Given the description of an element on the screen output the (x, y) to click on. 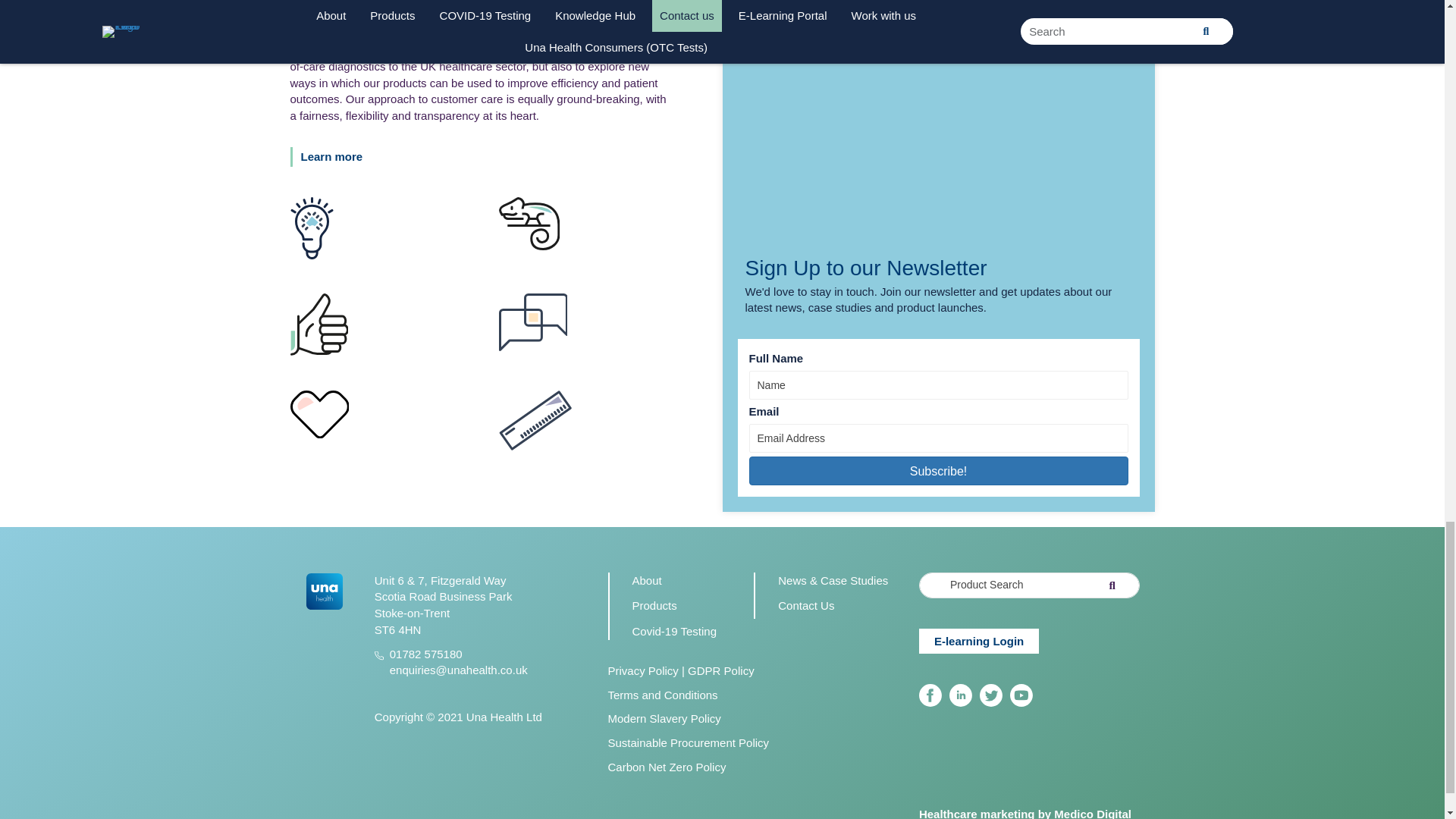
Learn more (333, 157)
GDPR Policy (720, 670)
Subscribe! (938, 470)
Products (654, 604)
About (646, 580)
E-learning Login (978, 640)
Privacy Policy (643, 670)
Covid-19 Testing (673, 631)
Carbon Net Zero Policy (667, 766)
